Given the description of an element on the screen output the (x, y) to click on. 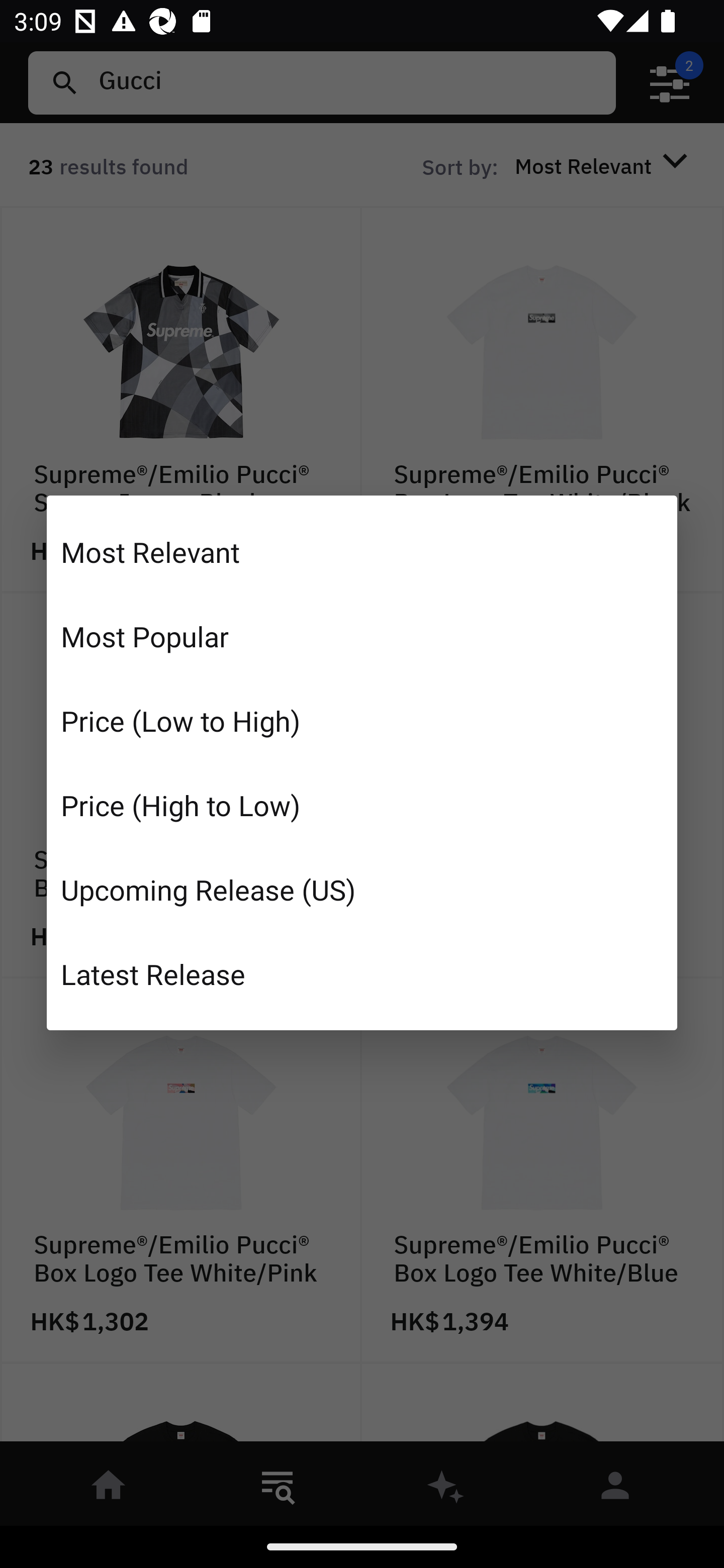
Most Relevant (361, 551)
Most Popular (361, 636)
Price (Low to High) (361, 720)
Price (High to Low) (361, 804)
Upcoming Release (US) (361, 888)
Latest Release (361, 973)
